Given the description of an element on the screen output the (x, y) to click on. 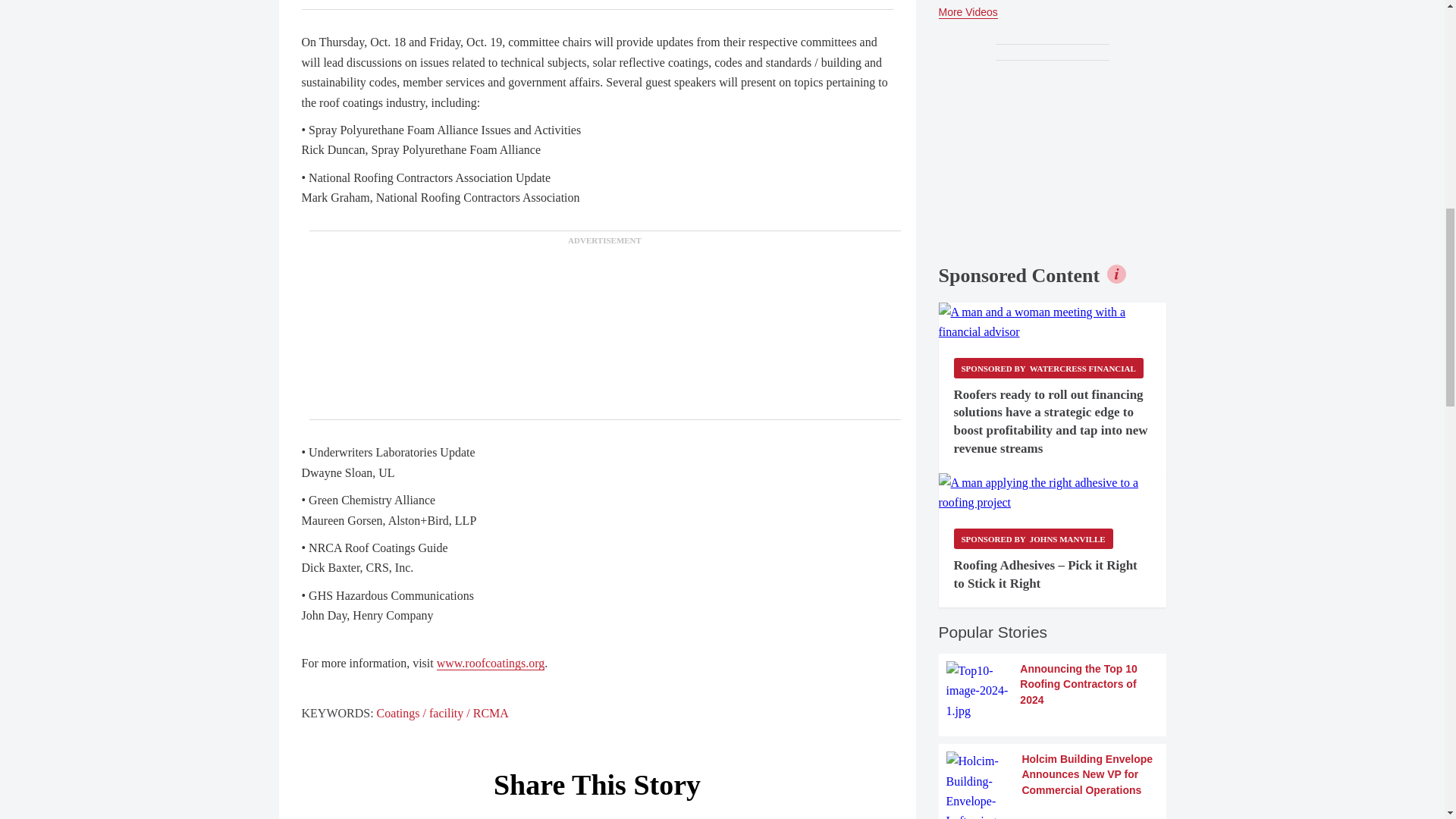
Sponsored by Johns Manville (1033, 538)
Sponsored by Watercress Financial (1047, 367)
Announcing the Top 10 Roofing Contractors of 2024 (1052, 690)
